Given the description of an element on the screen output the (x, y) to click on. 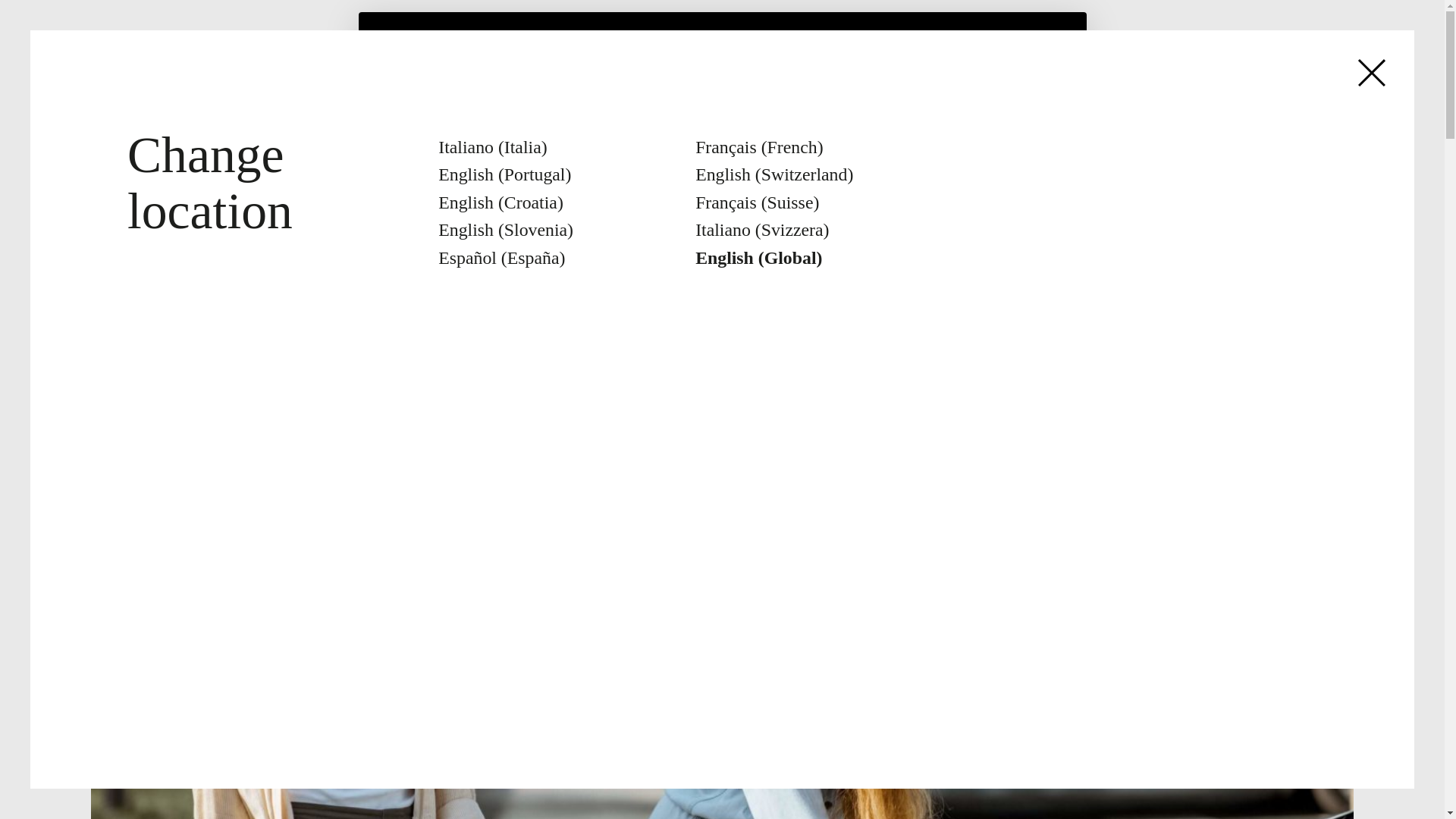
false (865, 162)
Learn more (422, 212)
cookie policy (731, 76)
false (622, 162)
false (737, 162)
true (387, 162)
false (501, 162)
